Given the description of an element on the screen output the (x, y) to click on. 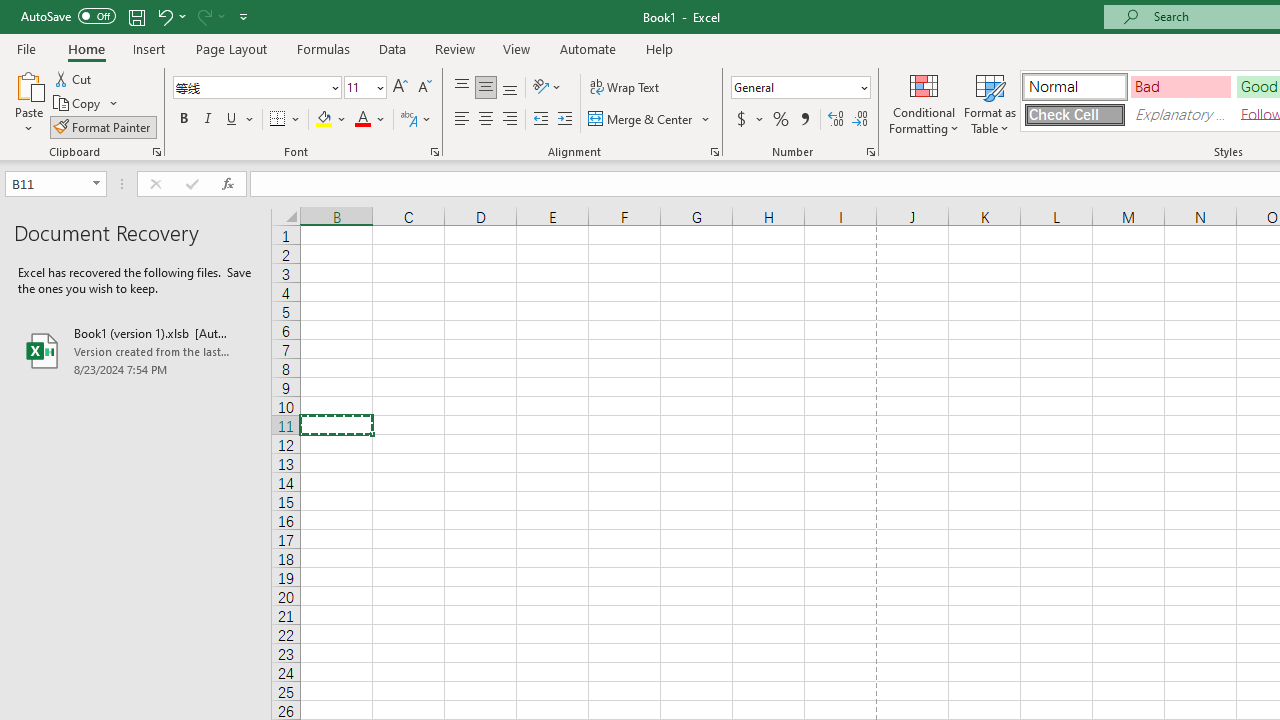
Cut (73, 78)
Paste (28, 84)
Font Size (365, 87)
Format Cell Alignment (714, 151)
Explanatory Text (1180, 114)
Font (256, 87)
Format Painter (103, 126)
Underline (232, 119)
Percent Style (781, 119)
Bottom Border (278, 119)
